Given the description of an element on the screen output the (x, y) to click on. 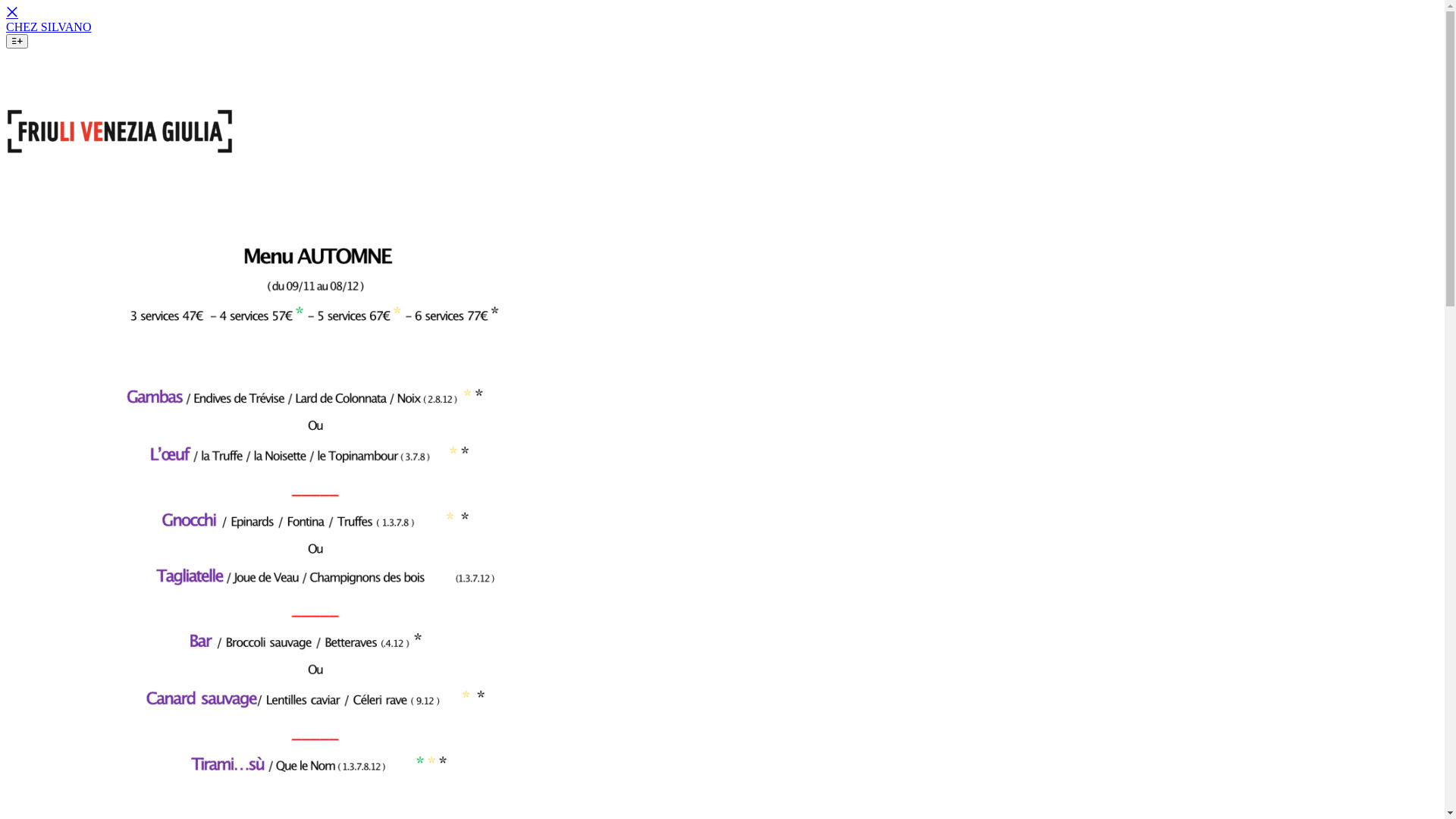
Friuli 2 Element type: hover (119, 130)
CHEZ SILVANO Element type: text (48, 26)
